Given the description of an element on the screen output the (x, y) to click on. 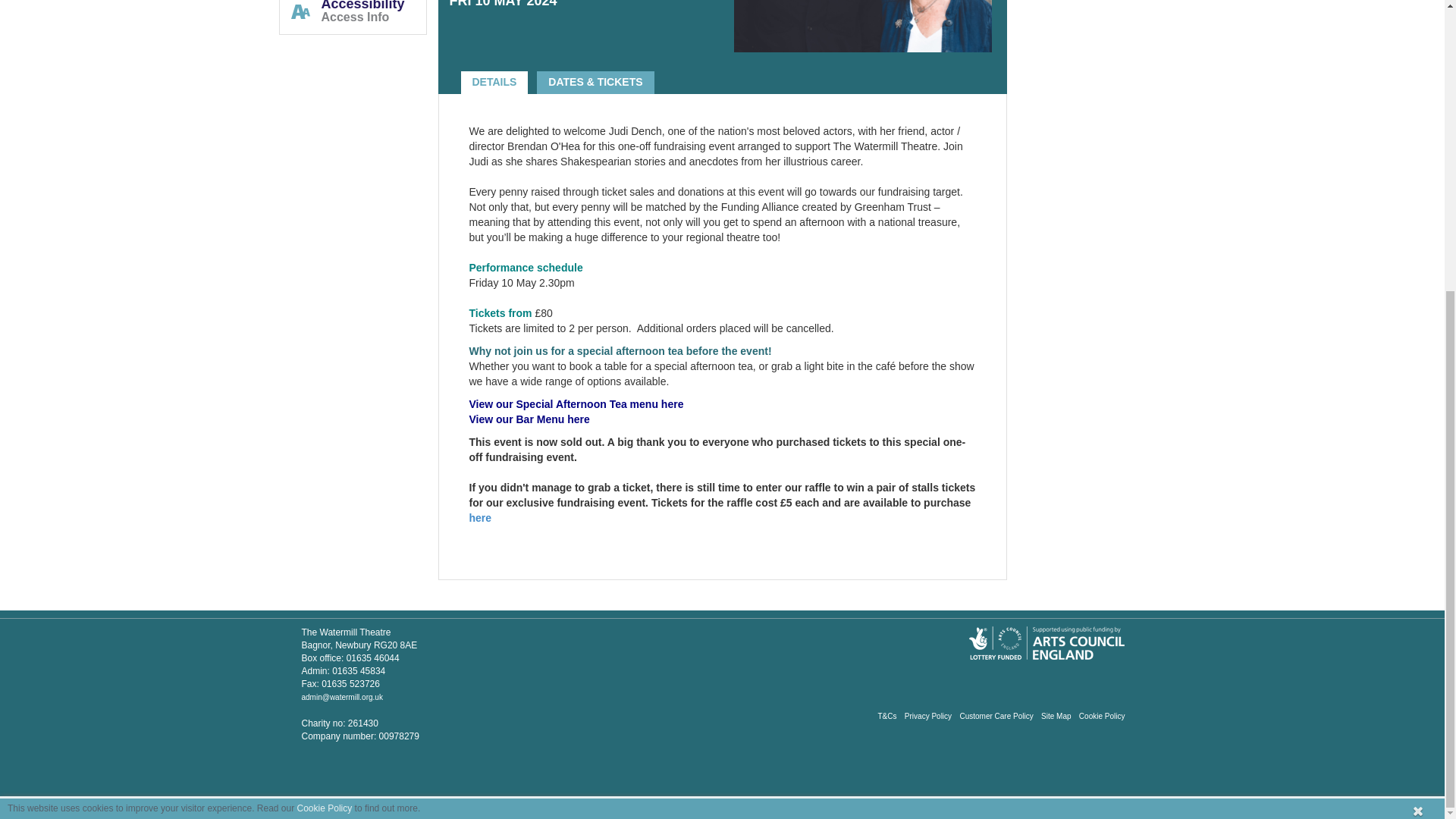
Bar Menu  (528, 419)
Site Map (1055, 715)
Privacy Policy (928, 715)
Cookie Policy (324, 363)
Cookie Policy (1101, 715)
Customer Care Policy (995, 715)
